Given the description of an element on the screen output the (x, y) to click on. 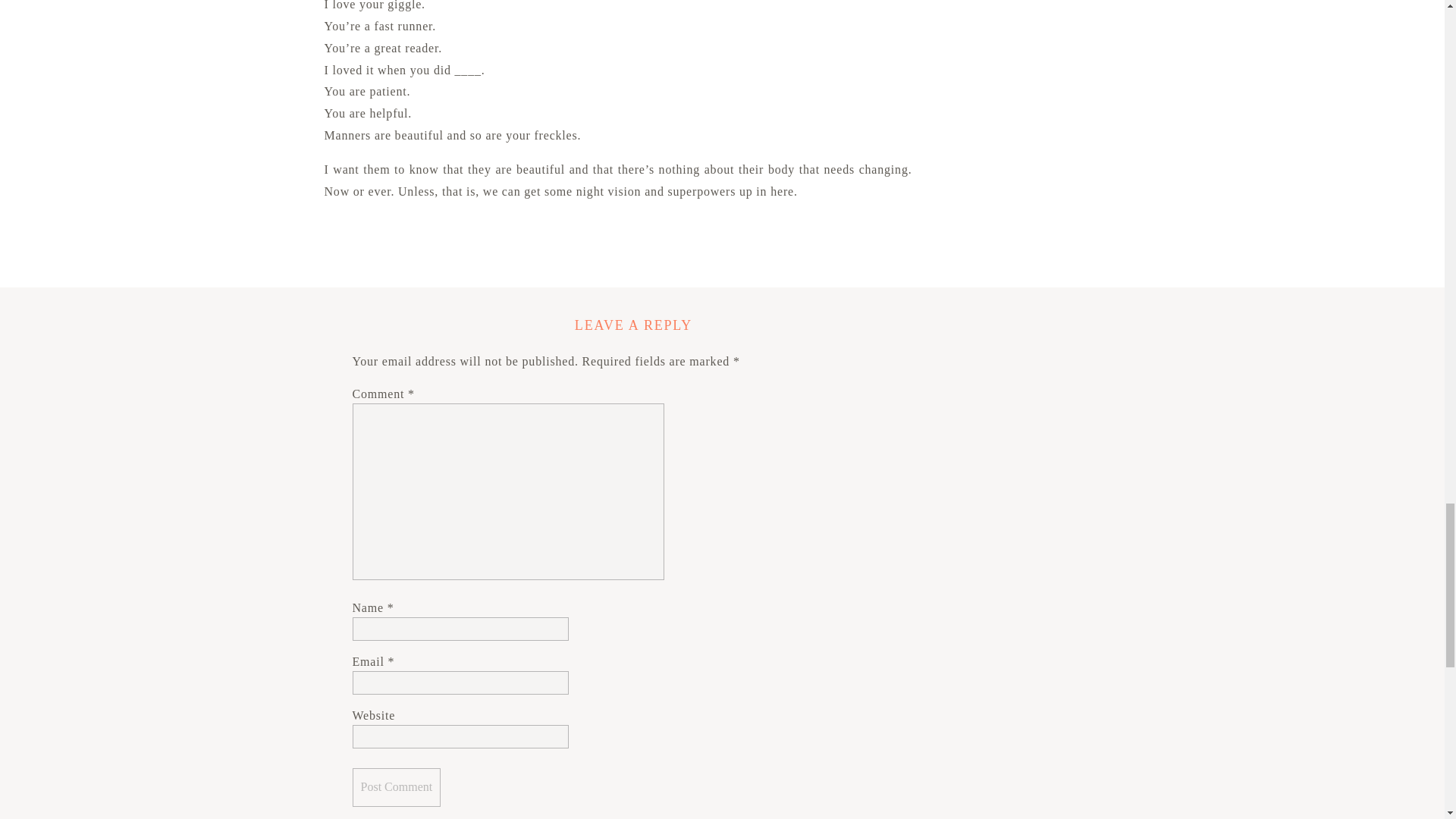
Post Comment (396, 787)
